Given the description of an element on the screen output the (x, y) to click on. 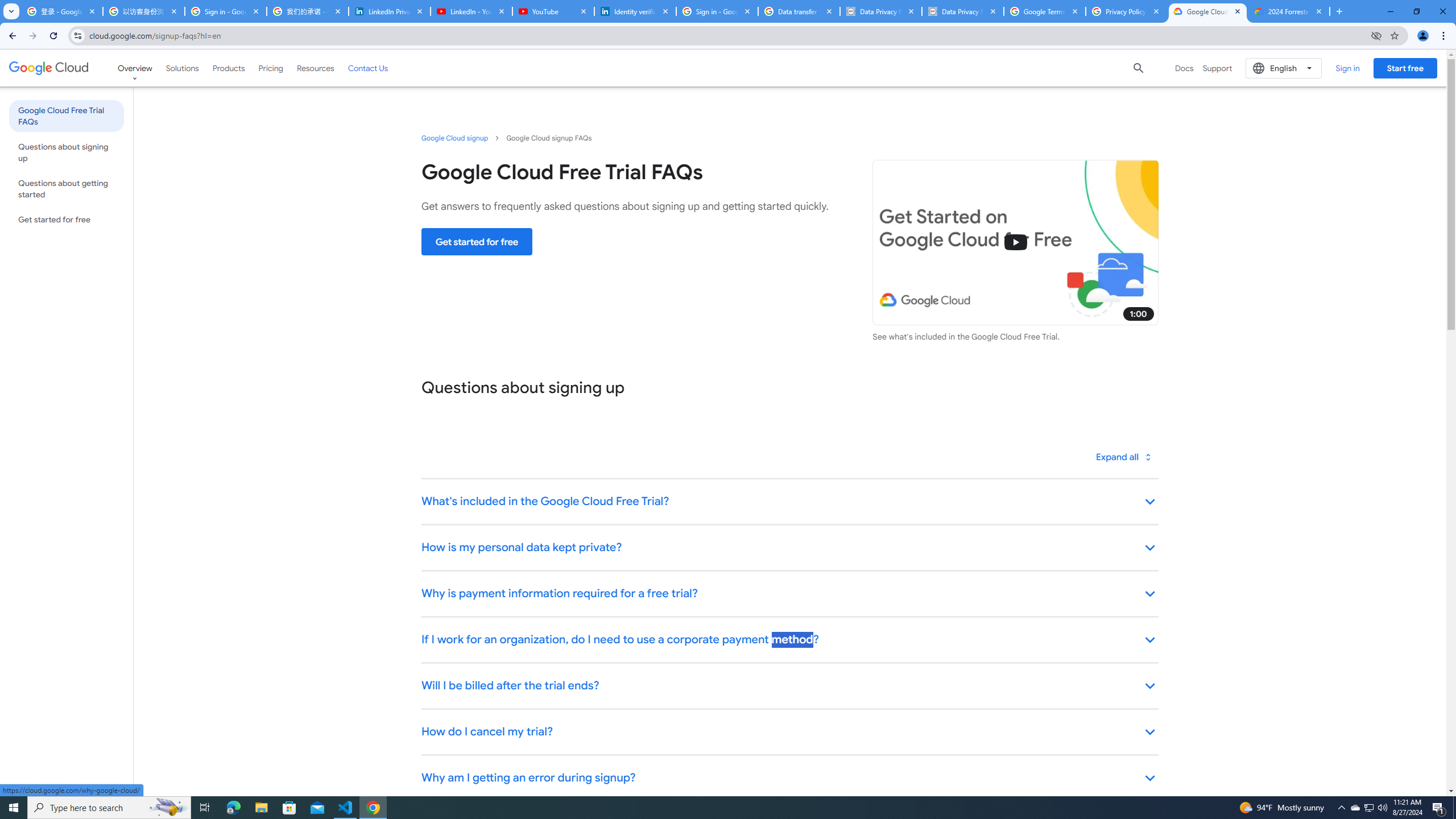
Resources (314, 67)
Questions about getting started (65, 188)
Why am I getting an error during signup? keyboard_arrow_down (789, 778)
Google Cloud (48, 67)
Docs (1183, 67)
Data Privacy Framework (963, 11)
Solutions (181, 67)
YouTube (552, 11)
